Given the description of an element on the screen output the (x, y) to click on. 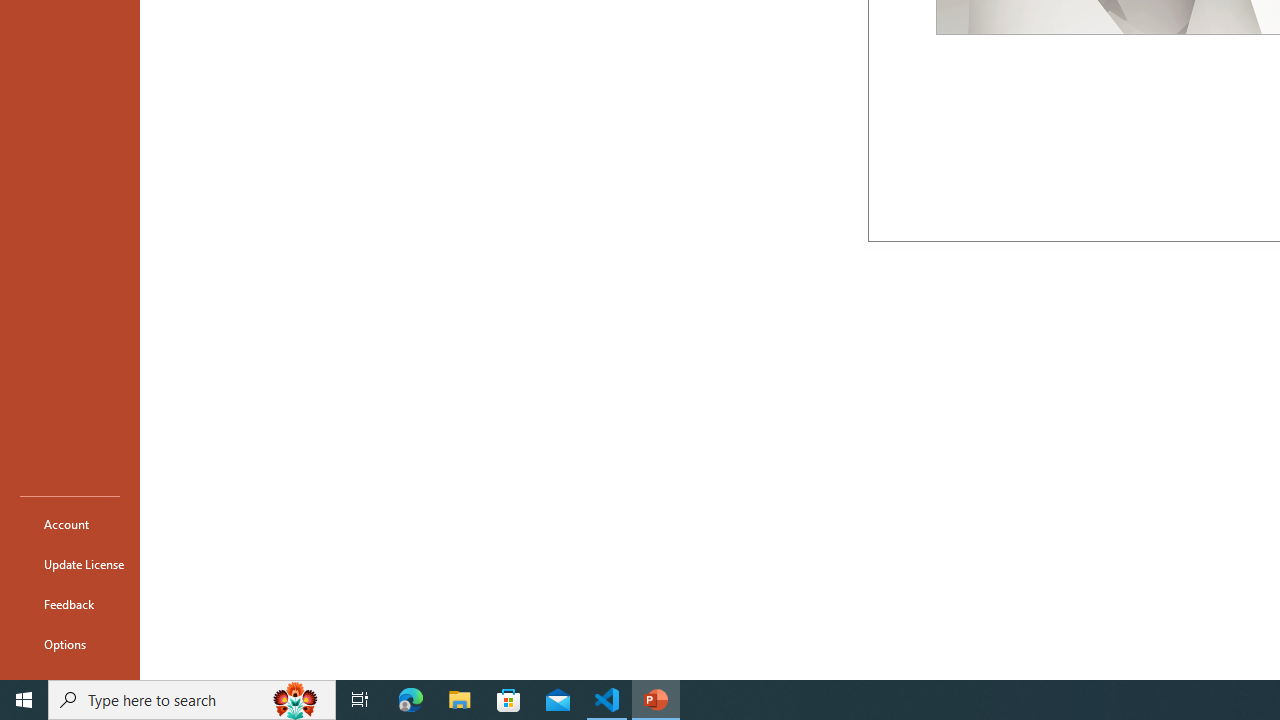
Account (69, 523)
Feedback (69, 603)
Update License (69, 563)
Options (69, 643)
